Given the description of an element on the screen output the (x, y) to click on. 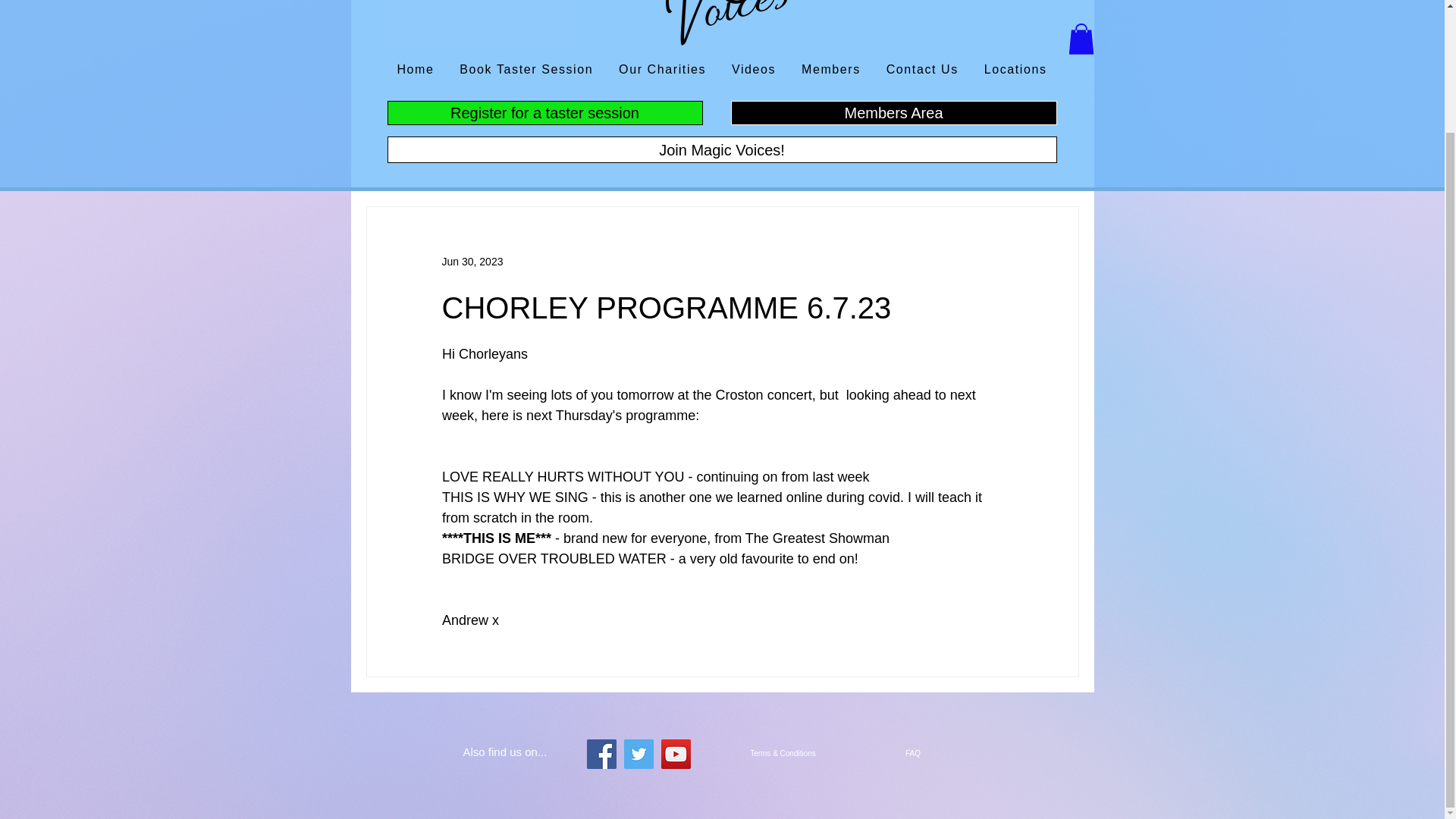
Members Area (893, 112)
Contact Us (922, 70)
Our Charities (662, 70)
Home (415, 70)
Videos (754, 70)
Jun 30, 2023 (471, 260)
Locations (1015, 70)
FAQ (911, 753)
Members (831, 70)
Register for a taster session (544, 112)
Join Magic Voices! (722, 149)
Book Taster Session (525, 70)
